Given the description of an element on the screen output the (x, y) to click on. 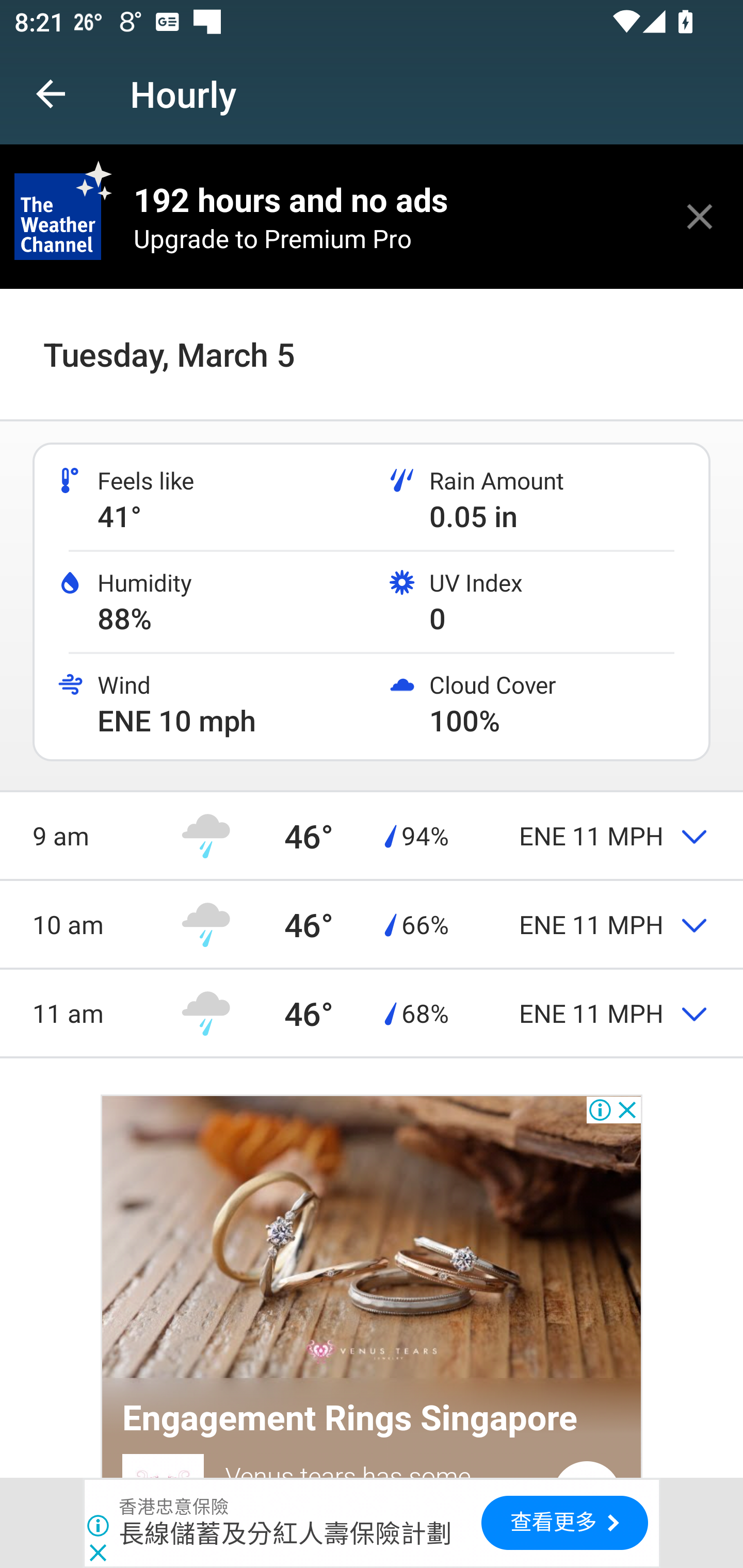
Navigate up (50, 93)
close this (699, 216)
8 am 46° 100% ENE 10 MPH (371, 336)
9 am 46° 94% ENE 11 MPH (371, 835)
10 am 46° 66% ENE 11 MPH (371, 924)
11 am 46° 68% ENE 11 MPH (371, 1012)
venus-tears (371, 1239)
Engagement Rings Singapore (349, 1418)
香港忠意保險 (174, 1507)
查看更多 (564, 1522)
長線儲蓄及分紅人壽保險計劃 (285, 1533)
